Given the description of an element on the screen output the (x, y) to click on. 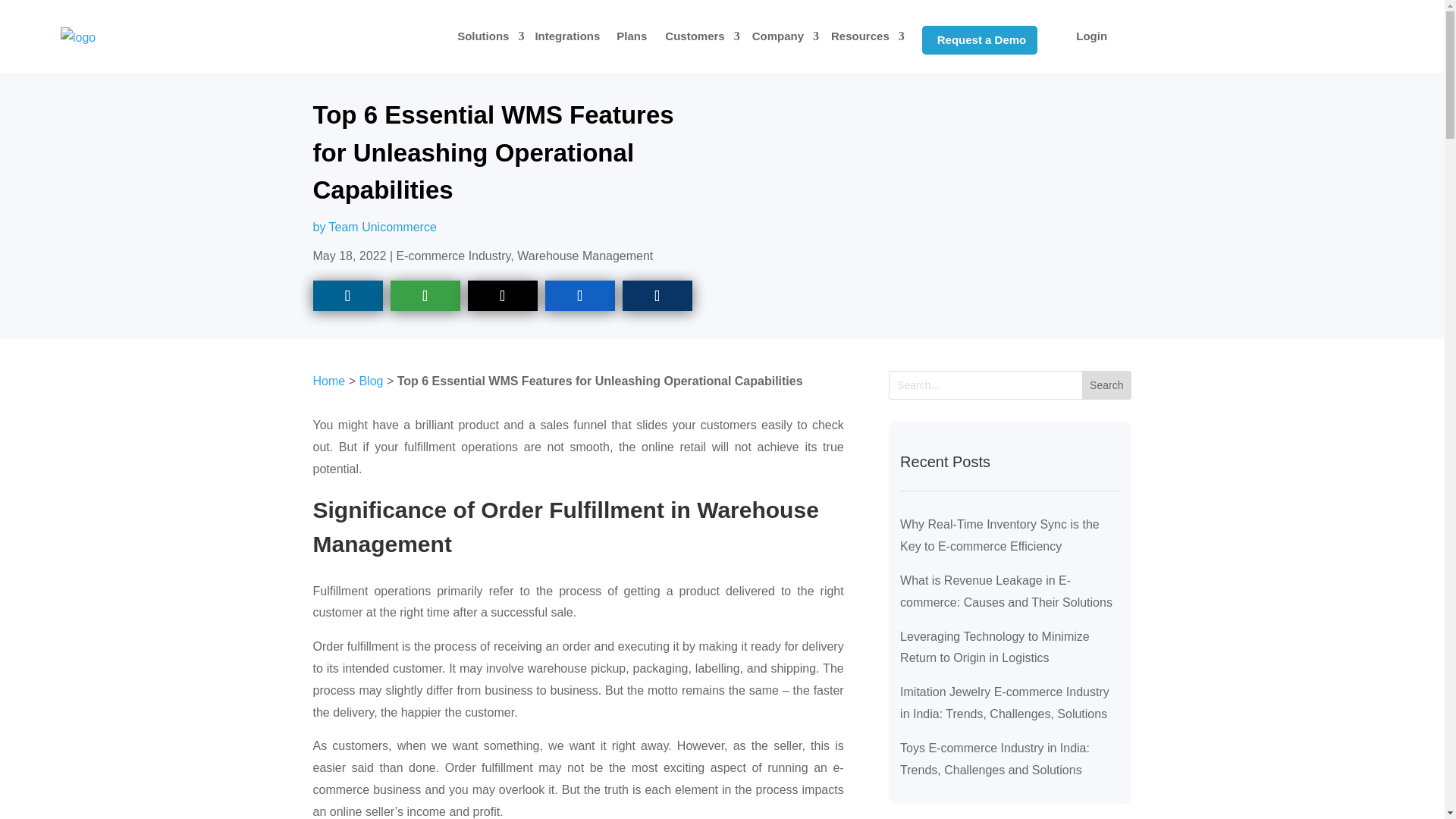
Search (1106, 384)
Company (781, 36)
Customers (698, 36)
Solutions (486, 36)
Search (1106, 384)
Request a Demo (979, 39)
Integrations (566, 36)
Posts by Team Unicommerce (382, 226)
Resources (864, 36)
